Given the description of an element on the screen output the (x, y) to click on. 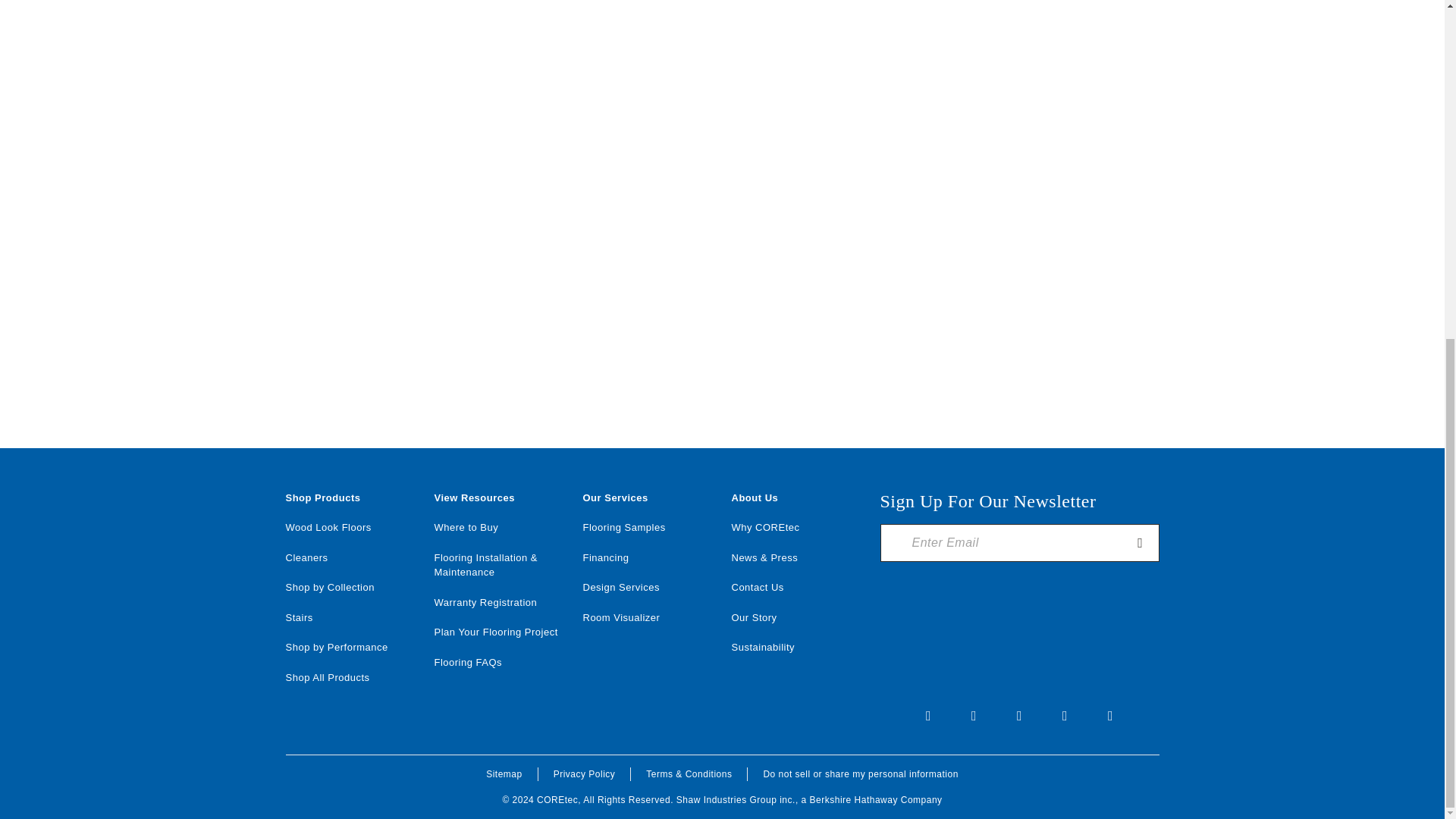
Newsletter email (1006, 542)
Newsletter form submit (1140, 542)
